Given the description of an element on the screen output the (x, y) to click on. 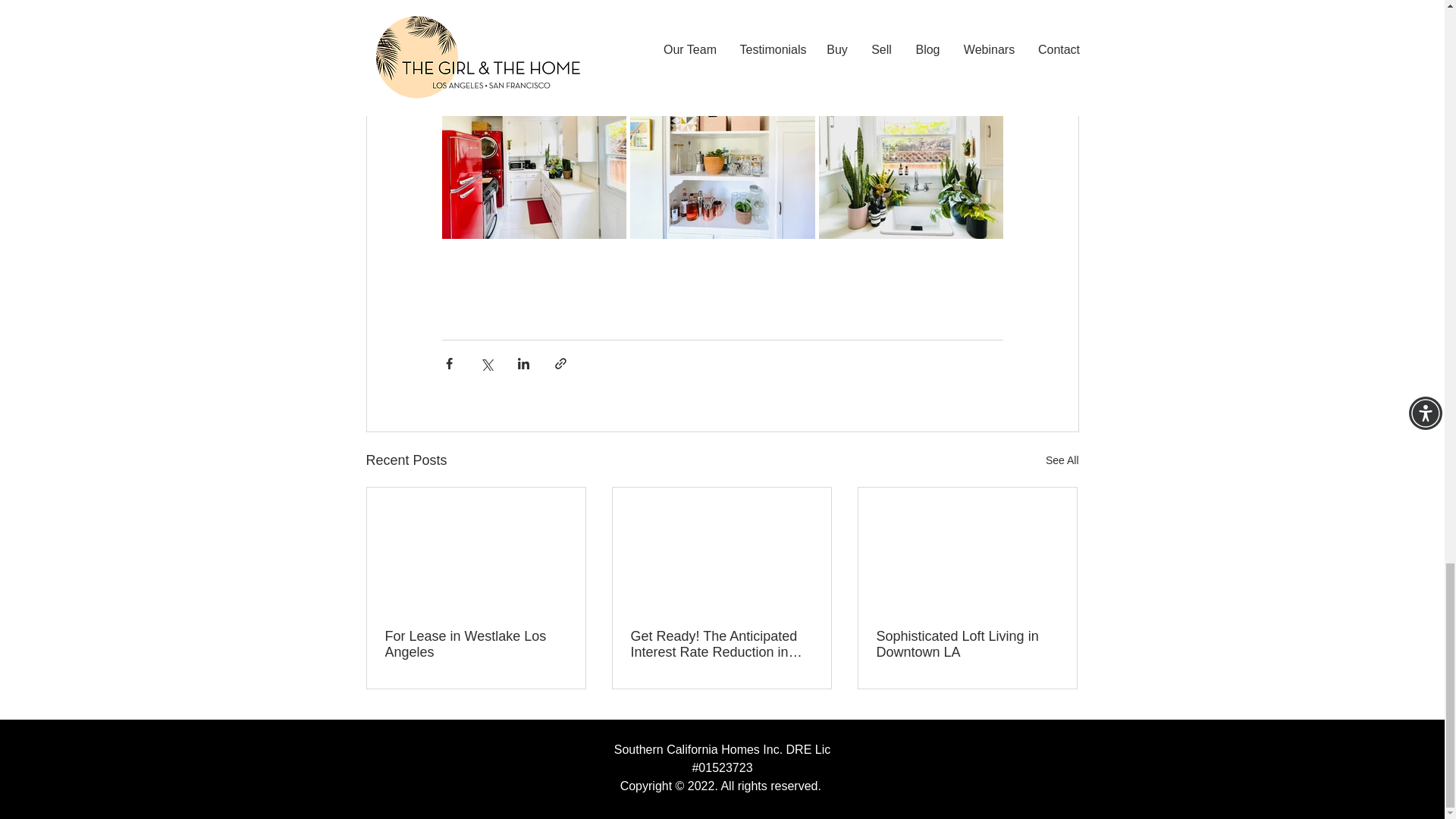
For Lease in Westlake Los Angeles (476, 644)
Sophisticated Loft Living in Downtown LA (967, 644)
See All (1061, 460)
